Given the description of an element on the screen output the (x, y) to click on. 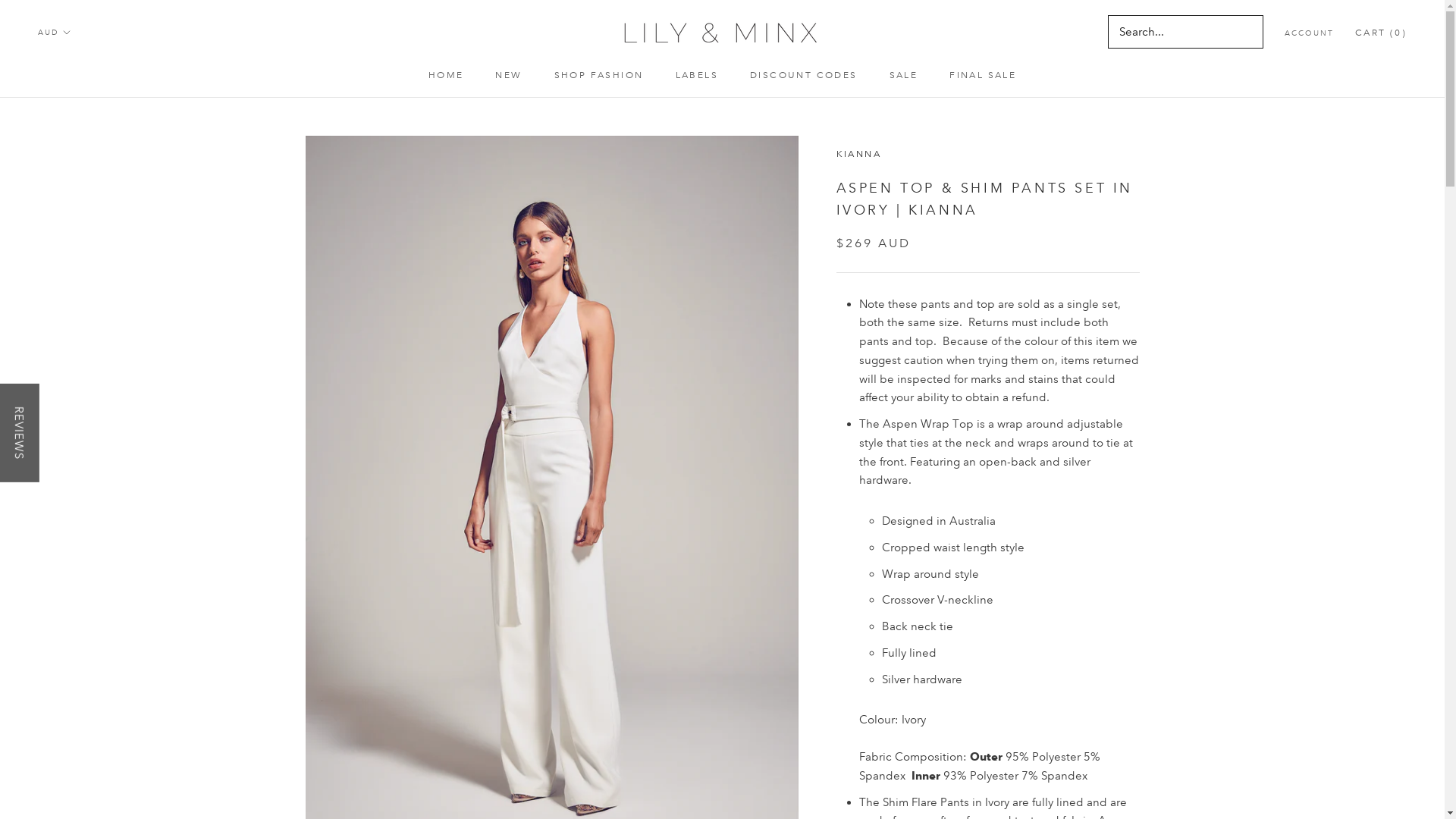
LABELS
LABELS Element type: text (695, 75)
SALE
SALE Element type: text (903, 75)
ACCOUNT Element type: text (1308, 33)
FINAL SALE
FINAL SALE Element type: text (982, 75)
KIANNA Element type: text (857, 154)
NEW
NEW Element type: text (508, 75)
SHOP FASHION
SHOP FASHION Element type: text (598, 75)
HOME
HOME Element type: text (446, 75)
CART (0) Element type: text (1380, 32)
DISCOUNT CODES
DISCOUNT CODES Element type: text (803, 75)
